Given the description of an element on the screen output the (x, y) to click on. 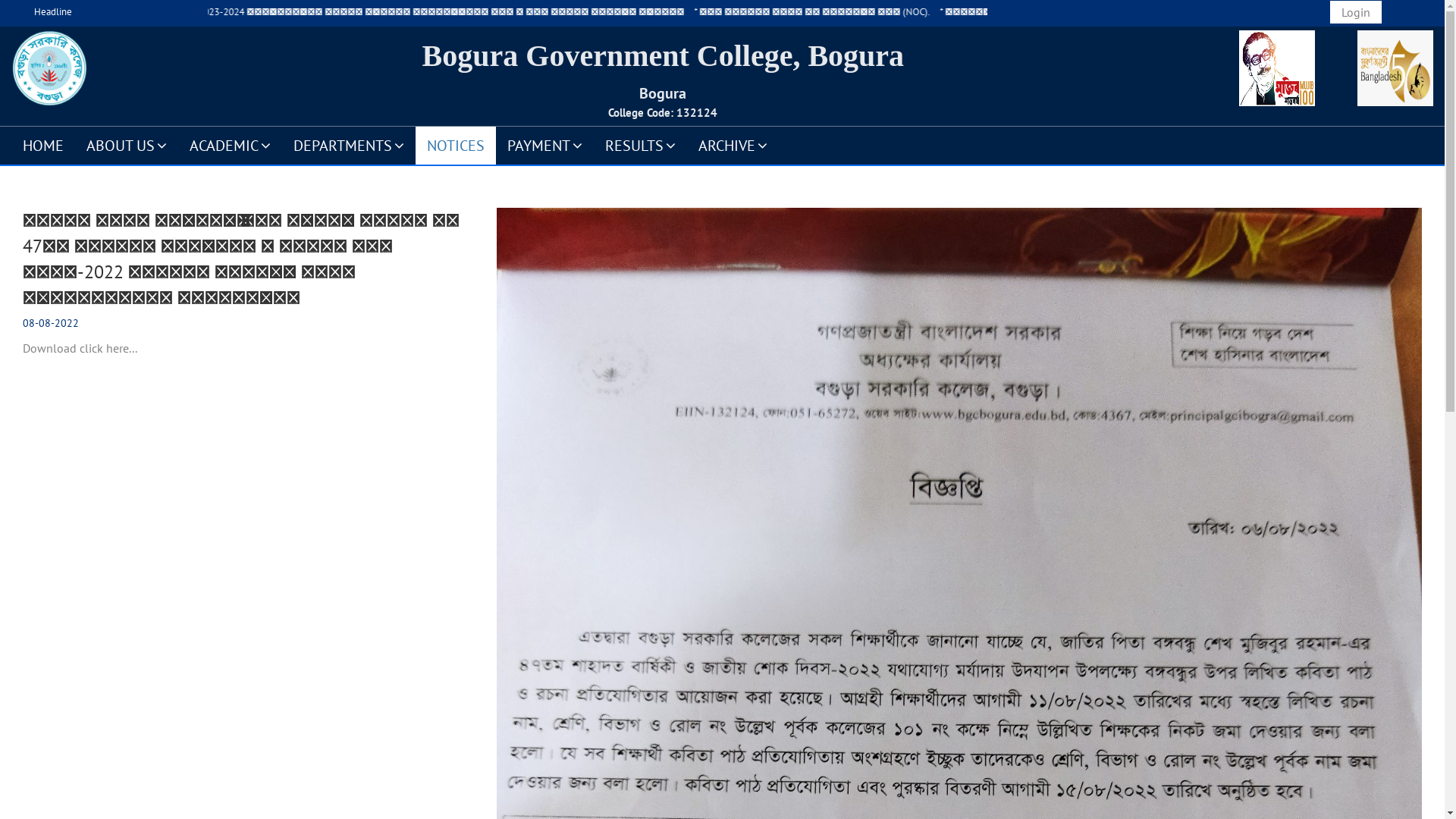
PAYMENT Element type: text (544, 144)
ACADEMIC Element type: text (230, 144)
Login Element type: text (1355, 11)
Bogura Government College, Bogura Element type: text (663, 55)
NOTICES Element type: text (455, 144)
HOME Element type: text (43, 144)
RESULTS Element type: text (640, 144)
ABOUT US Element type: text (126, 144)
Download click here... Element type: text (79, 347)
ARCHIVE Element type: text (732, 144)
DEPARTMENTS Element type: text (348, 144)
